Given the description of an element on the screen output the (x, y) to click on. 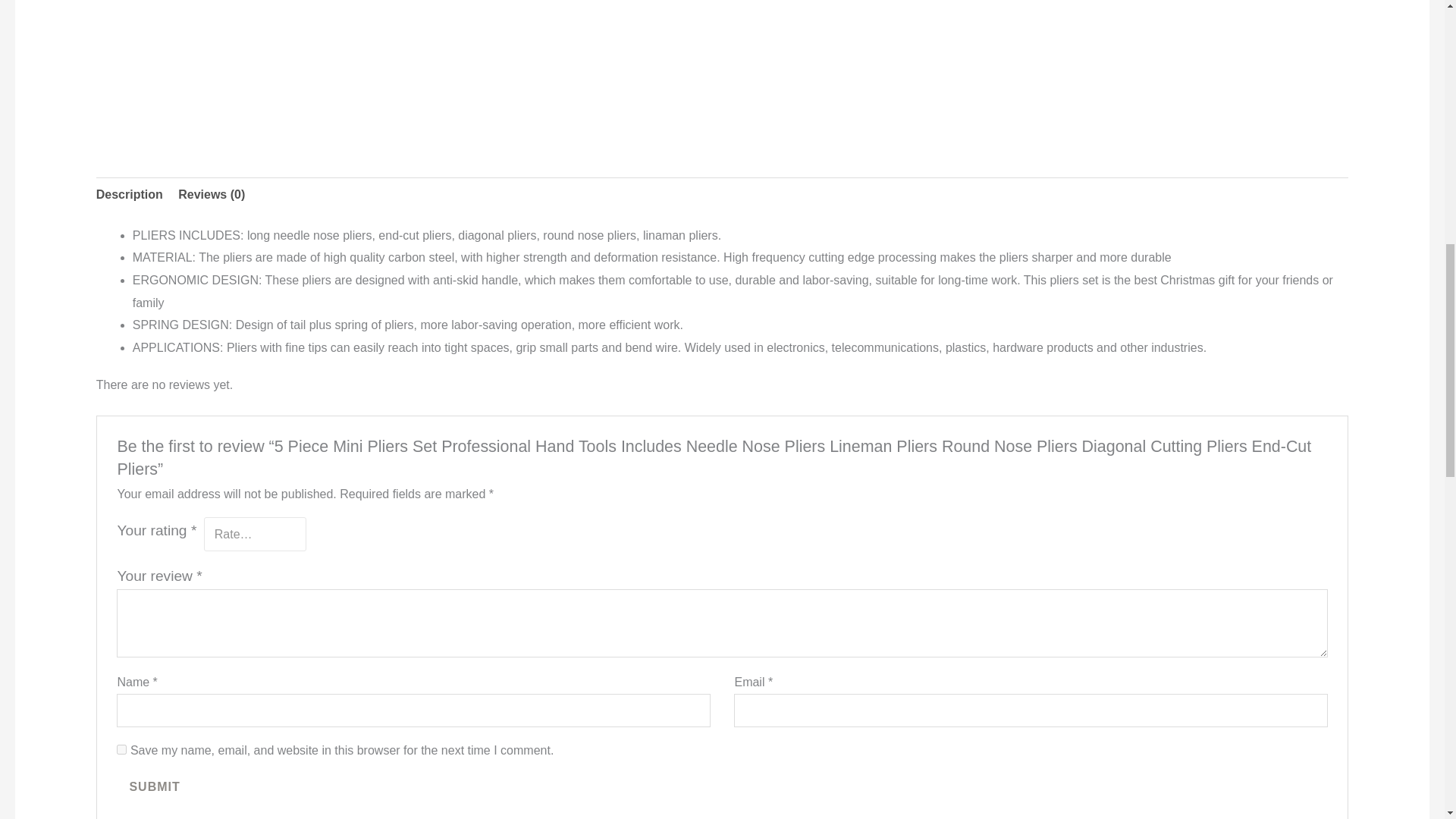
Submit (154, 786)
Description (129, 194)
Submit (154, 786)
yes (121, 749)
